Given the description of an element on the screen output the (x, y) to click on. 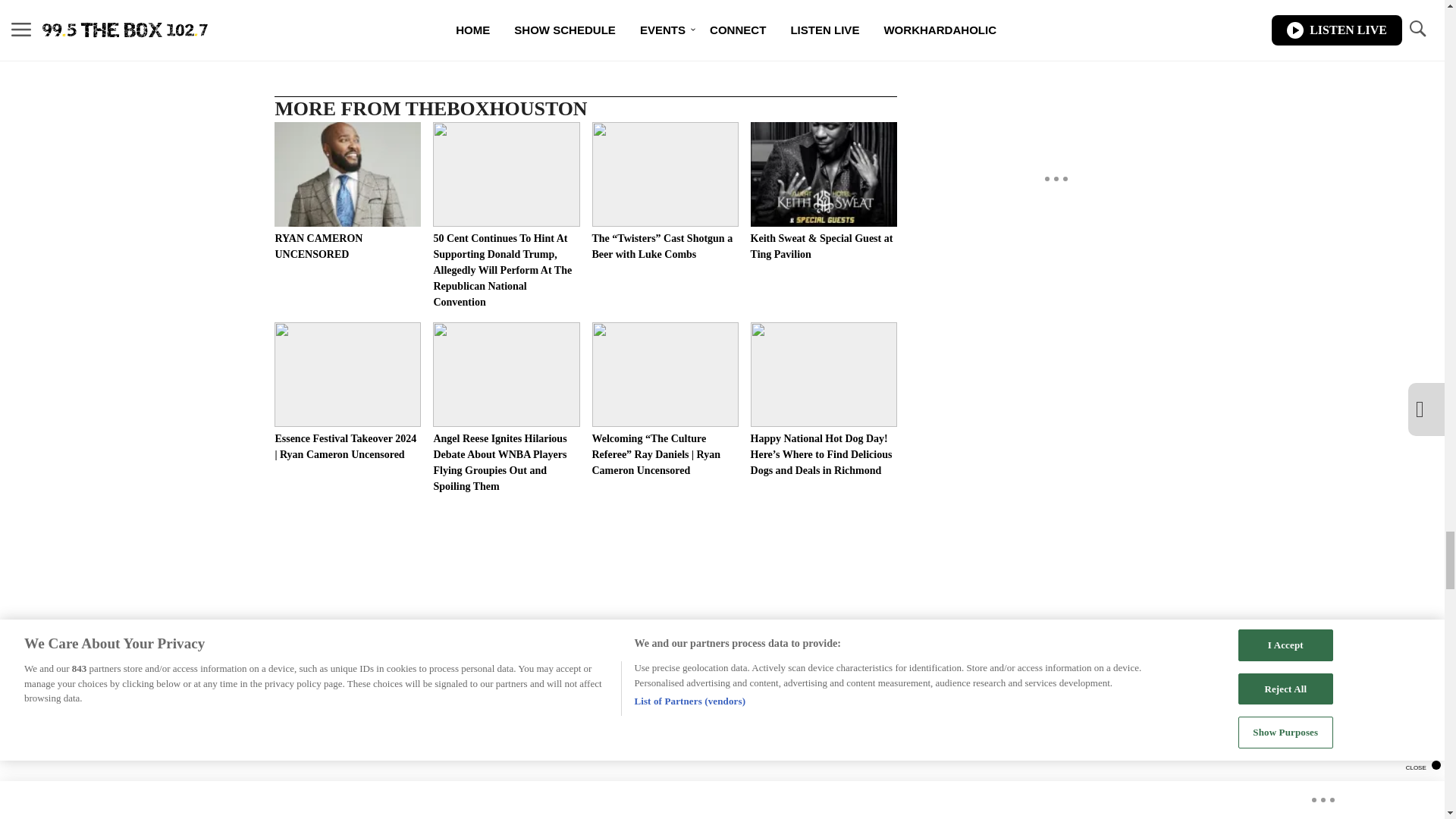
Vuukle Comments Widget (585, 800)
RYAN CAMERON UNCENSORED (347, 192)
Vuukle Sharebar Widget (585, 6)
